Given the description of an element on the screen output the (x, y) to click on. 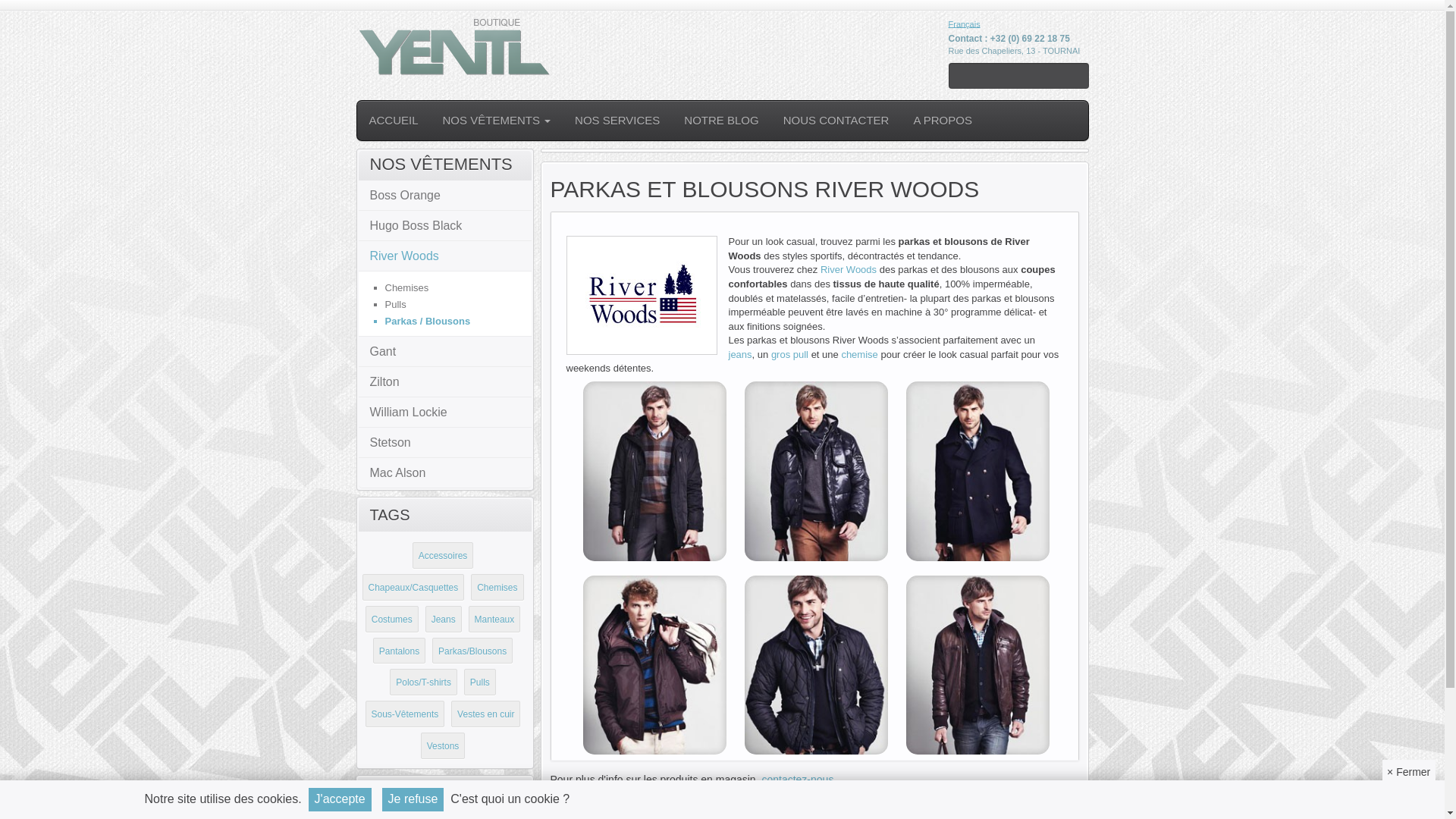
Boutique Yentl Element type: hover (454, 45)
Pantalons Element type: text (399, 651)
Gant Element type: text (376, 351)
Costumes Element type: text (391, 619)
ACCUEIL Element type: text (392, 120)
River Woods Element type: text (848, 269)
Mac Alson Element type: text (391, 472)
chemise Element type: text (858, 354)
contactez-nous Element type: text (797, 779)
NOTRE BLOG Element type: text (720, 120)
A PROPOS Element type: text (942, 120)
Polos/T-shirts Element type: text (423, 682)
Vestons Element type: text (442, 745)
NOS SERVICES Element type: text (616, 120)
William Lockie Element type: text (401, 411)
Hugo Boss Black Element type: text (409, 225)
Pulls Element type: text (395, 304)
Zilton Element type: text (377, 381)
Jeans Element type: text (443, 619)
Accessoires Element type: text (442, 555)
Manteaux Element type: text (494, 619)
Chemises Element type: text (407, 287)
jeans Element type: text (739, 354)
Chapeaux/Casquettes Element type: text (413, 587)
Parkas / Blousons Element type: text (427, 320)
Chemises Element type: text (496, 587)
C'est quoi un cookie ? Element type: text (509, 799)
Boss Orange Element type: text (398, 194)
Pulls Element type: text (479, 682)
gros pull Element type: text (789, 354)
Je refuse Element type: text (413, 799)
Parkas/Blousons Element type: text (472, 651)
NOUS CONTACTER Element type: text (836, 120)
Stetson Element type: text (383, 442)
Vestes en cuir Element type: text (485, 714)
J'accepte Element type: text (339, 799)
River Woods Element type: text (397, 255)
